Given the description of an element on the screen output the (x, y) to click on. 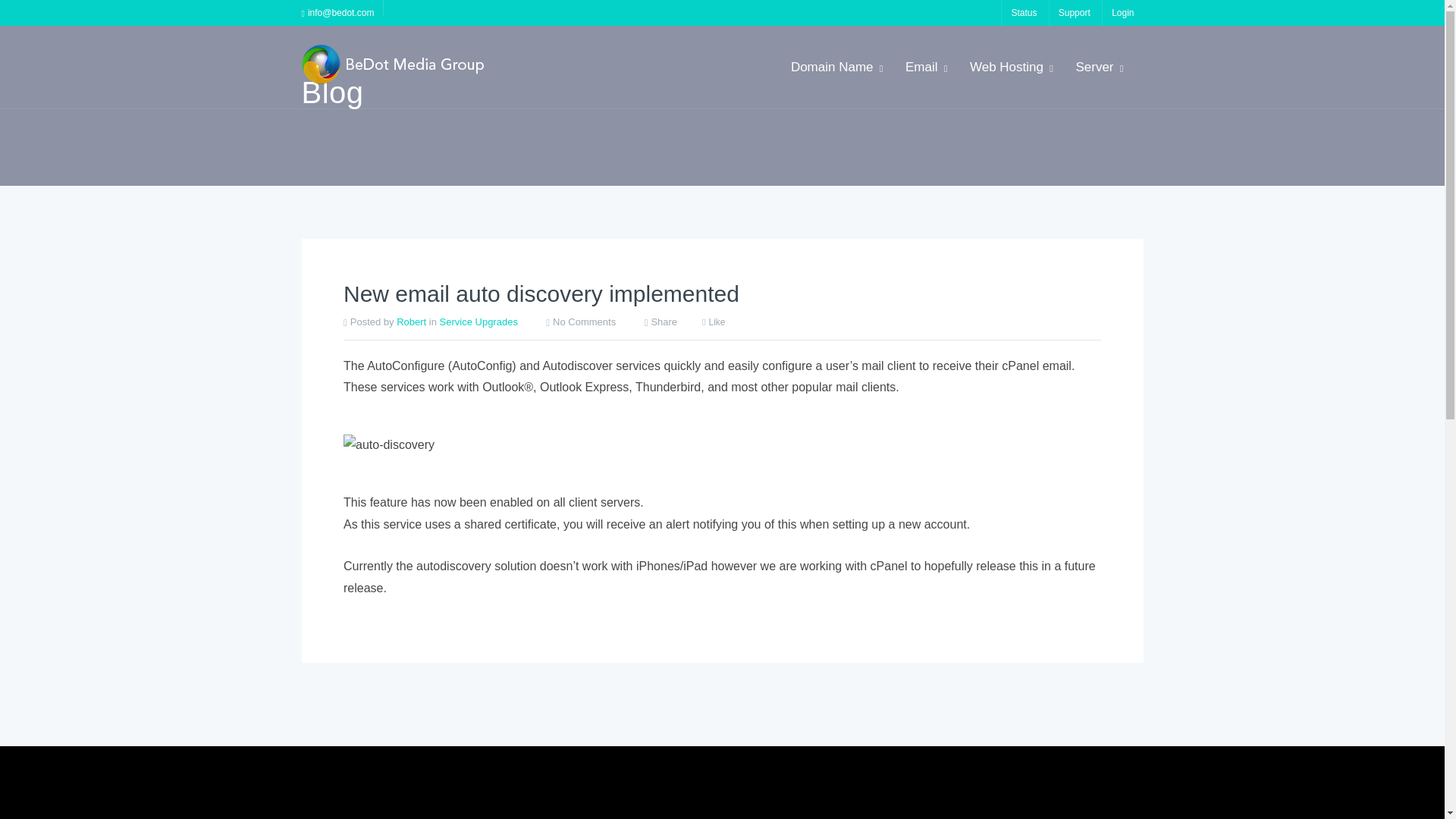
Like (713, 432)
Service Upgrades (478, 431)
Support (1073, 12)
Email (924, 66)
Login (1122, 12)
Like (713, 432)
Server (1098, 66)
Robert (411, 431)
Status (1023, 12)
New email auto discovery implemented (541, 403)
